Given the description of an element on the screen output the (x, y) to click on. 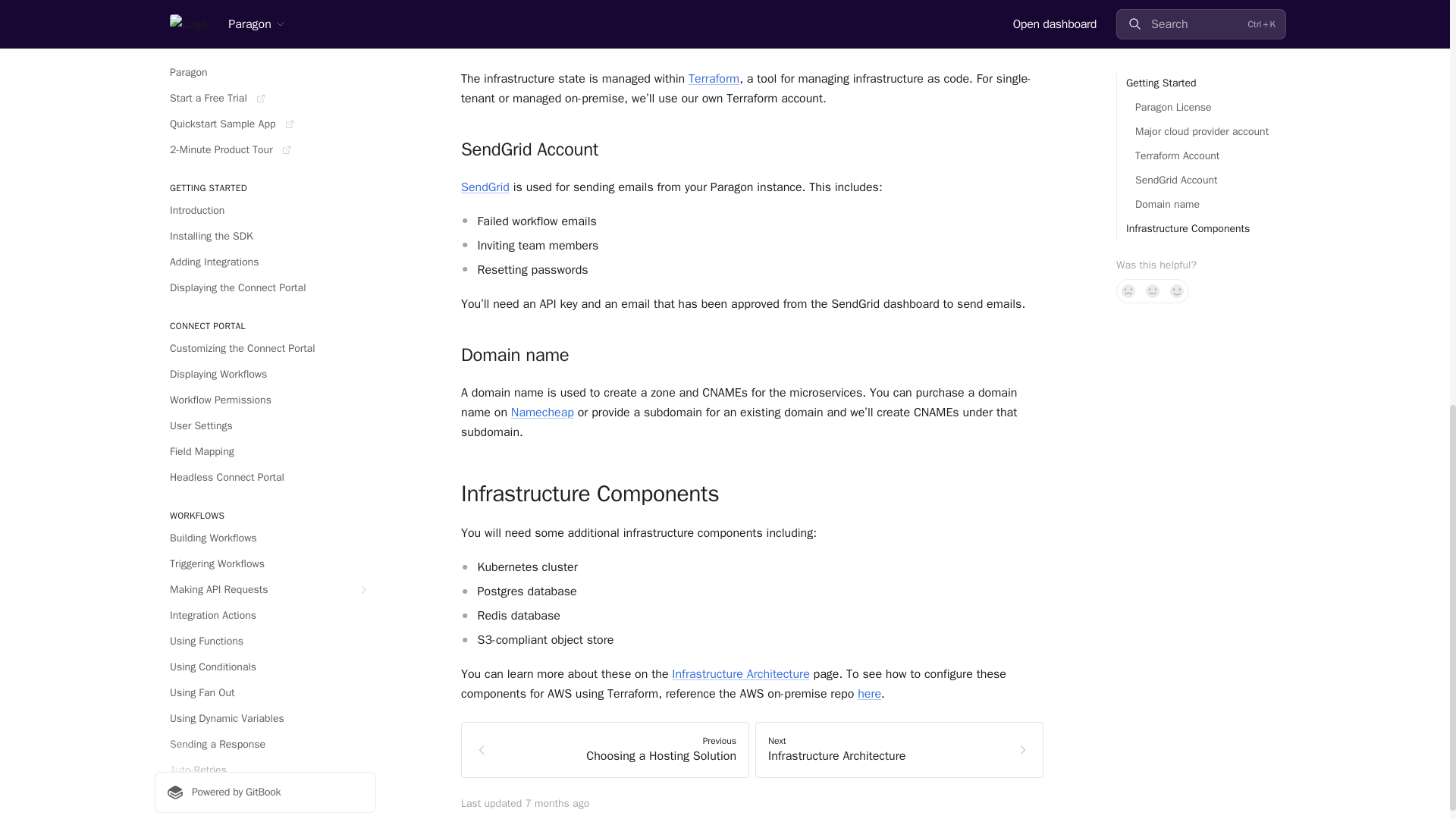
Managing Event Destinations (264, 140)
Version History (264, 7)
Managing Connected Users (264, 115)
Environment Secrets (264, 28)
Viewing Task History (264, 88)
